Given the description of an element on the screen output the (x, y) to click on. 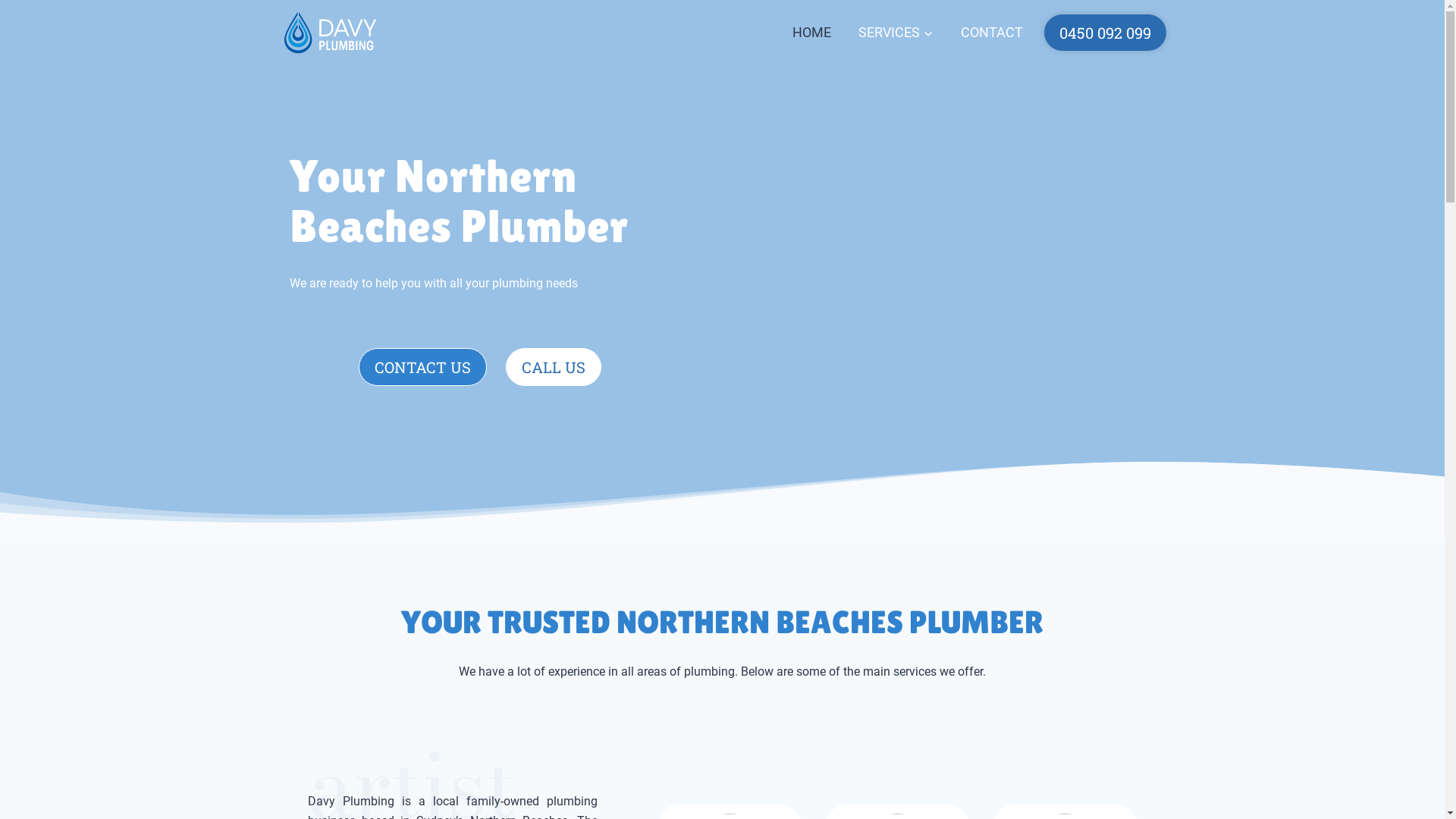
0450 092 099 Element type: text (1104, 32)
CONTACT Element type: text (990, 32)
CONTACT US Element type: text (422, 366)
CALL US Element type: text (553, 366)
SERVICES Element type: text (895, 32)
HOME Element type: text (811, 32)
